Given the description of an element on the screen output the (x, y) to click on. 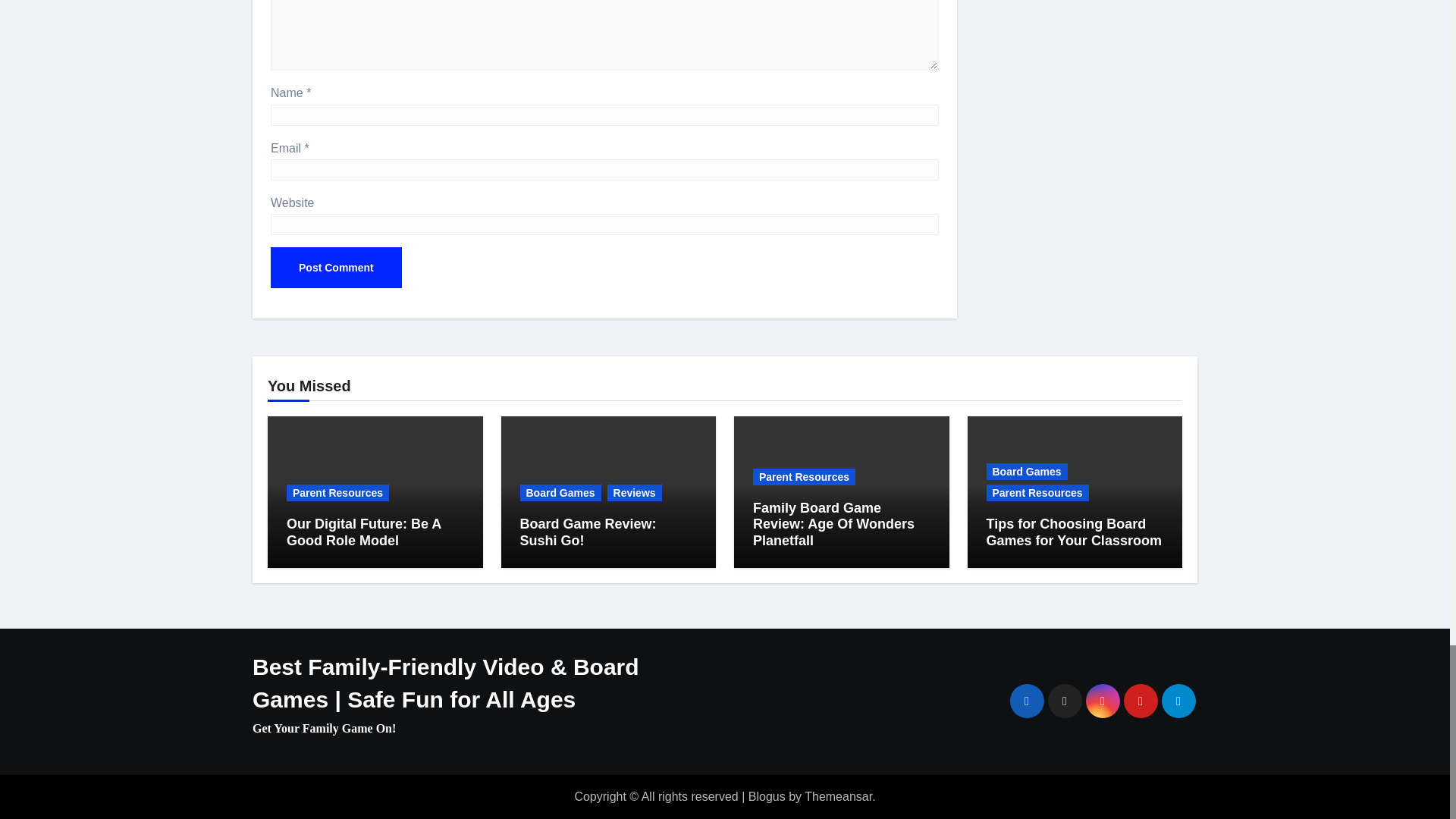
Post Comment (335, 267)
Permalink to: Our Digital Future: Be A Good Role Model (363, 531)
Permalink to: Board Game Review: Sushi Go! (587, 531)
